Given the description of an element on the screen output the (x, y) to click on. 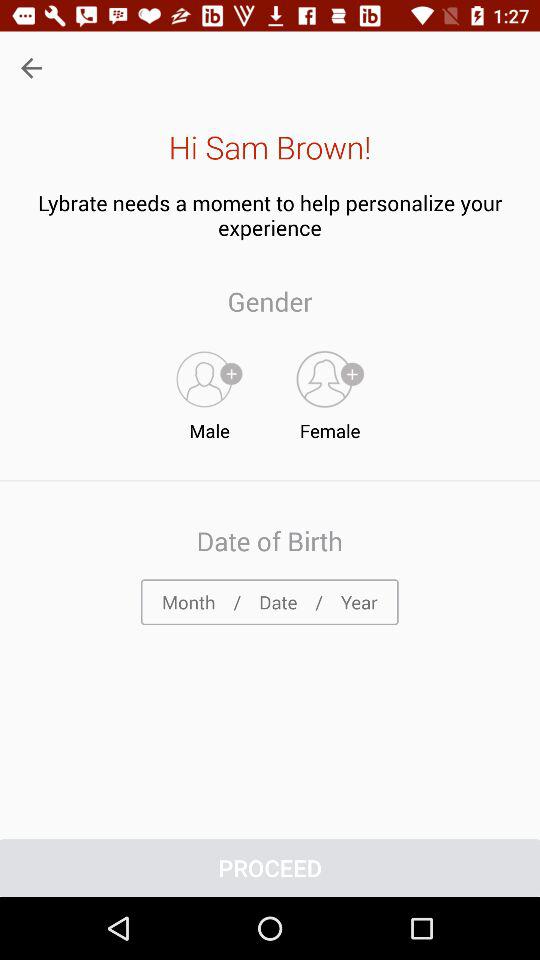
open the item to the left of the female icon (209, 391)
